Given the description of an element on the screen output the (x, y) to click on. 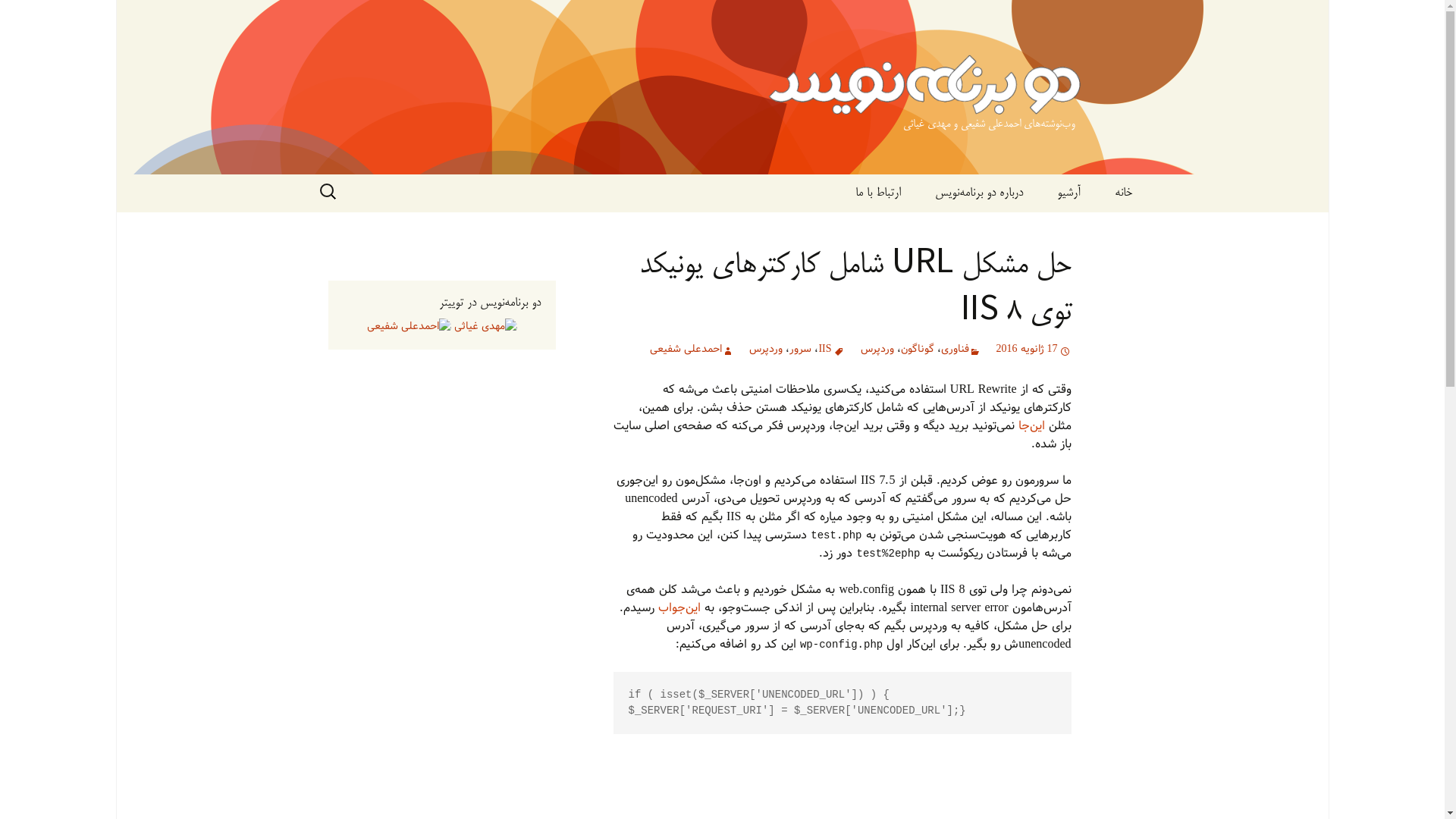
IIS Element type: text (831, 349)
